Given the description of an element on the screen output the (x, y) to click on. 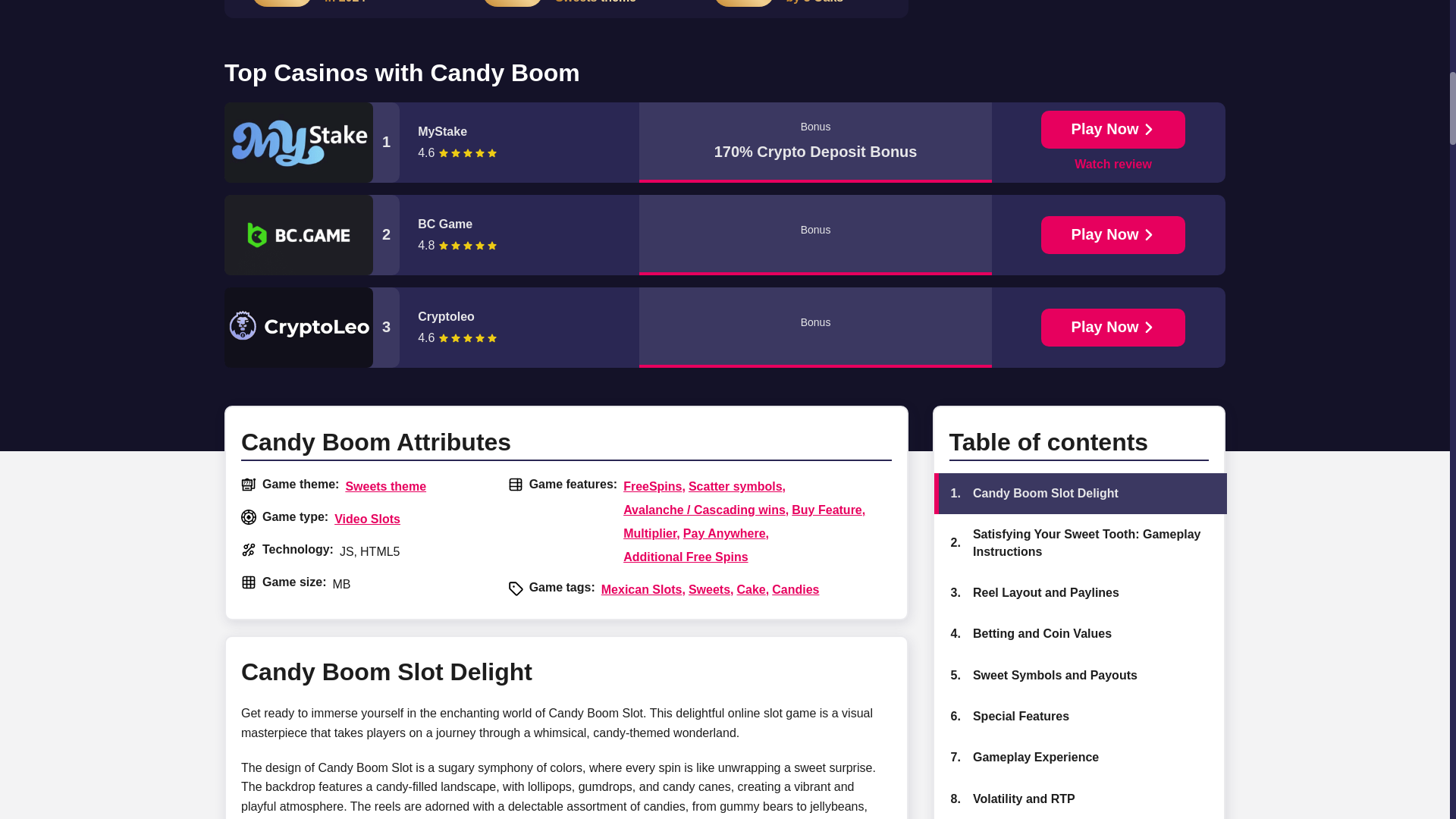
MyStake (512, 131)
Watch review (1112, 164)
1 (311, 142)
BC Game (512, 224)
3 (311, 327)
2 (311, 234)
Play Now (1113, 327)
Scatter symbols, (737, 485)
Play Now (1113, 234)
Video Slots (367, 518)
